Given the description of an element on the screen output the (x, y) to click on. 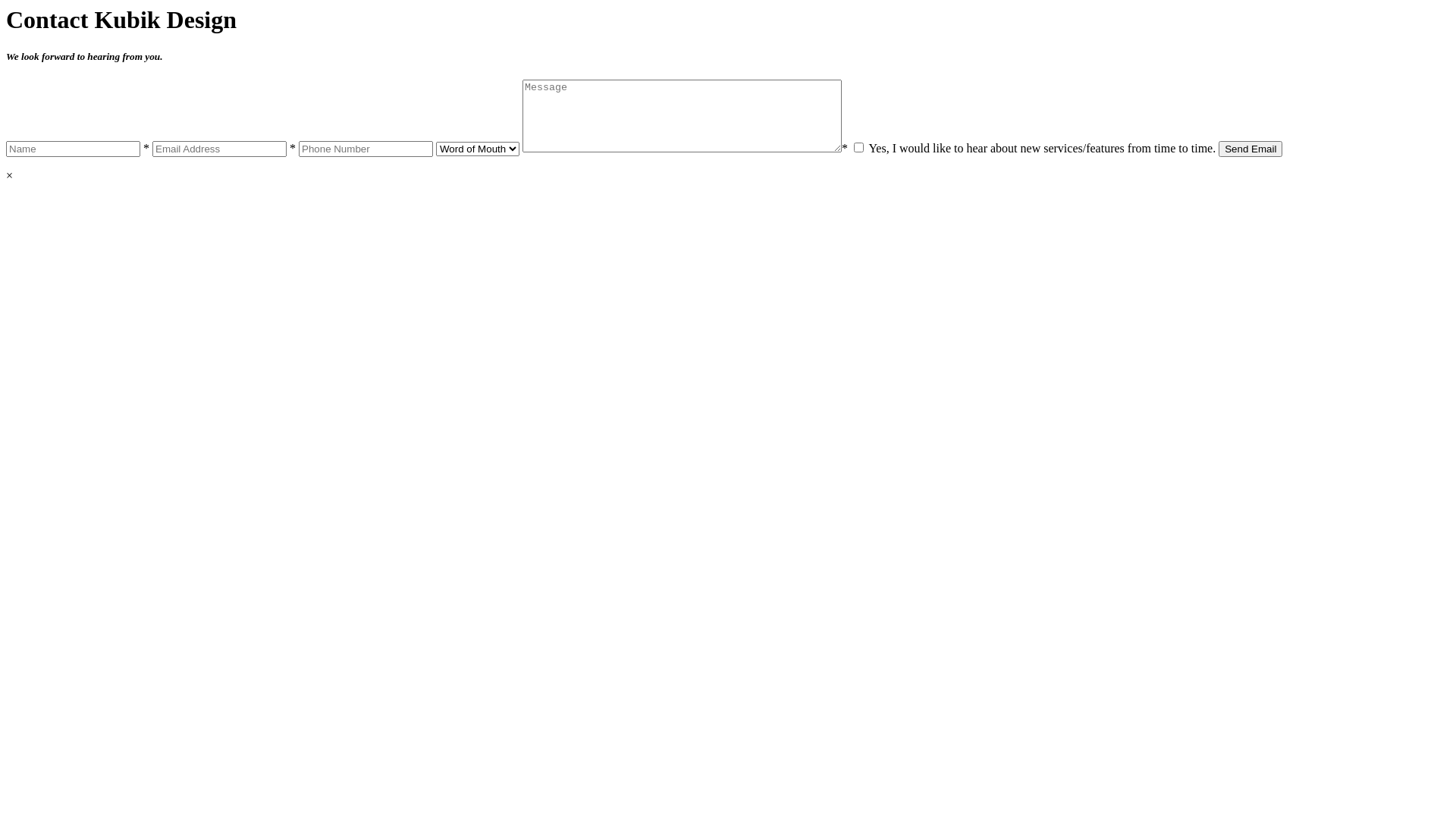
Send Email Element type: text (1250, 148)
